Given the description of an element on the screen output the (x, y) to click on. 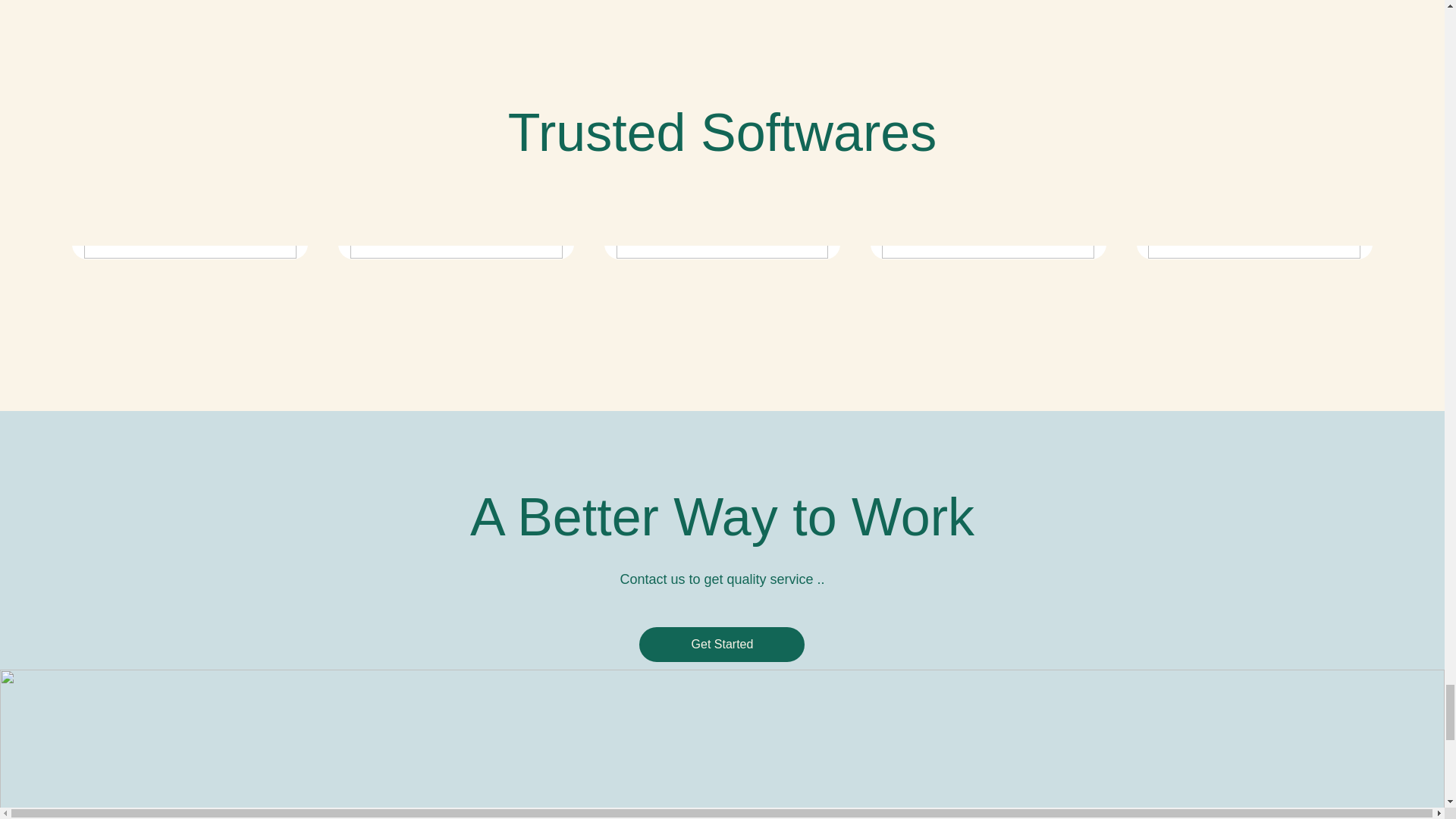
Get Started (722, 644)
